Given the description of an element on the screen output the (x, y) to click on. 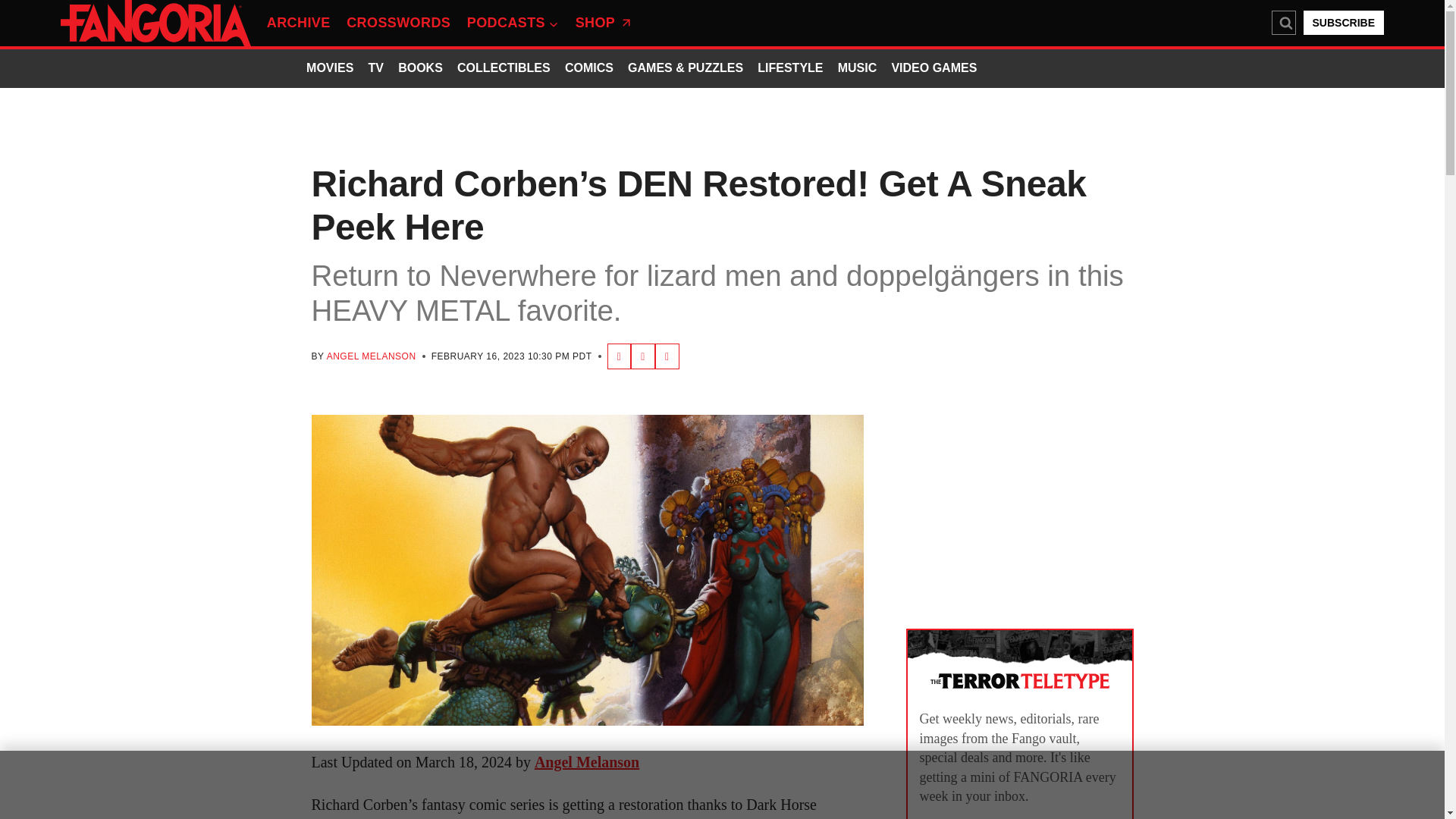
CROSSWORDS (397, 23)
SHOP (604, 23)
ARCHIVE (298, 23)
MOVIES (328, 69)
COLLECTIBLES (503, 69)
LIFESTYLE (790, 69)
ANGEL MELANSON (371, 356)
TV (376, 69)
SUBSCRIBE (1343, 22)
PODCASTS (512, 23)
